Given the description of an element on the screen output the (x, y) to click on. 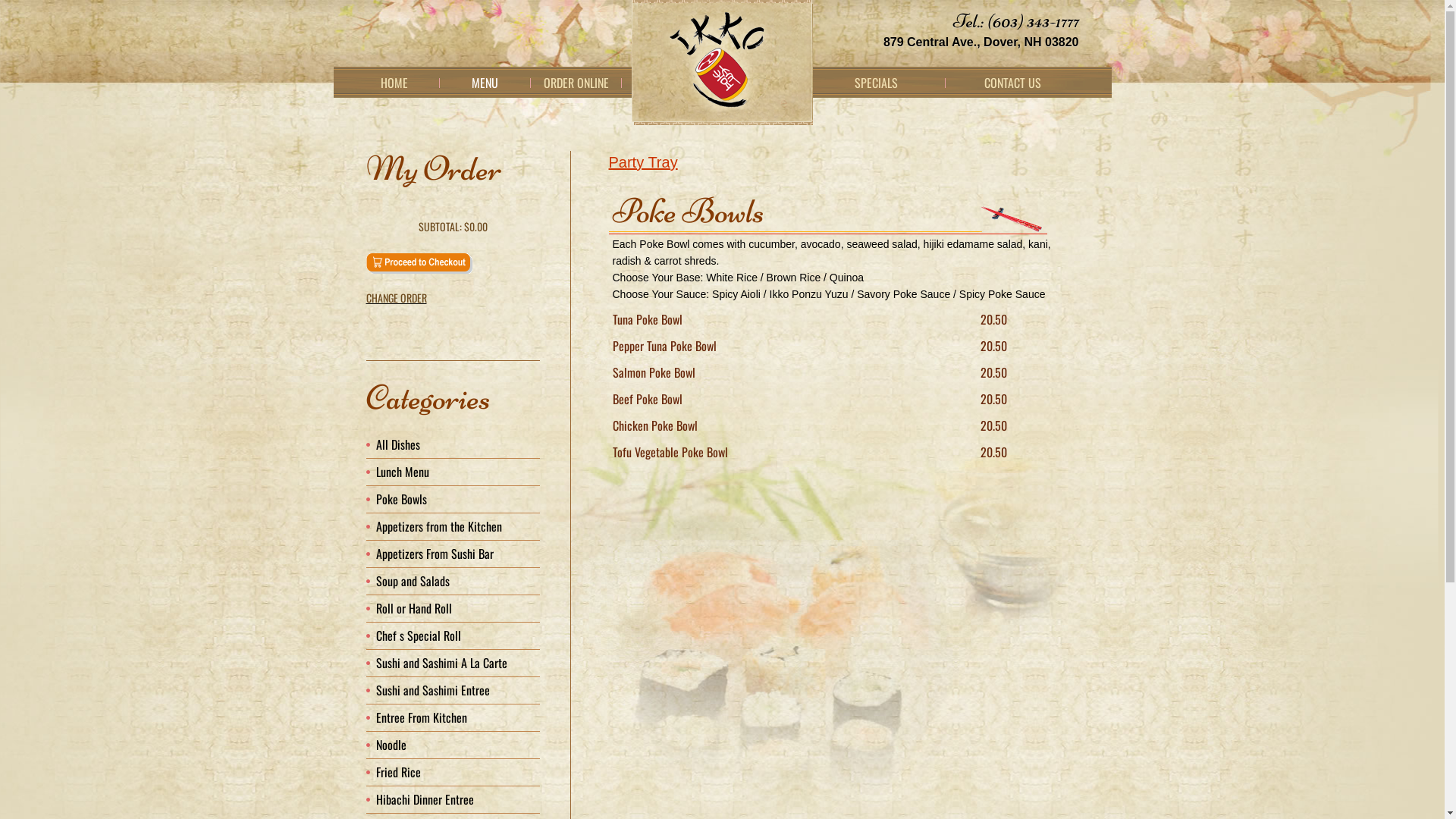
Soup and Salads Element type: text (412, 580)
Entree From Kitchen Element type: text (421, 717)
Lunch Menu Element type: text (402, 471)
Sushi and Sashimi A La Carte Element type: text (441, 662)
CONTACT US Element type: text (1012, 82)
HOME Element type: text (393, 82)
Fried Rice Element type: text (398, 771)
ORDER ONLINE Element type: text (575, 82)
Sushi and Sashimi Entree Element type: text (432, 689)
Noodle Element type: text (391, 744)
MENU Element type: text (484, 82)
Appetizers from the Kitchen Element type: text (439, 526)
CHANGE ORDER Element type: text (452, 297)
All Dishes Element type: text (398, 444)
Appetizers From Sushi Bar Element type: text (434, 553)
SPECIALS Element type: text (876, 82)
Poke Bowls Element type: text (401, 498)
Hibachi Dinner Entree Element type: text (424, 799)
Party Tray Element type: text (642, 161)
Roll or Hand Roll Element type: text (413, 608)
Chef s Special Roll Element type: text (418, 635)
